Given the description of an element on the screen output the (x, y) to click on. 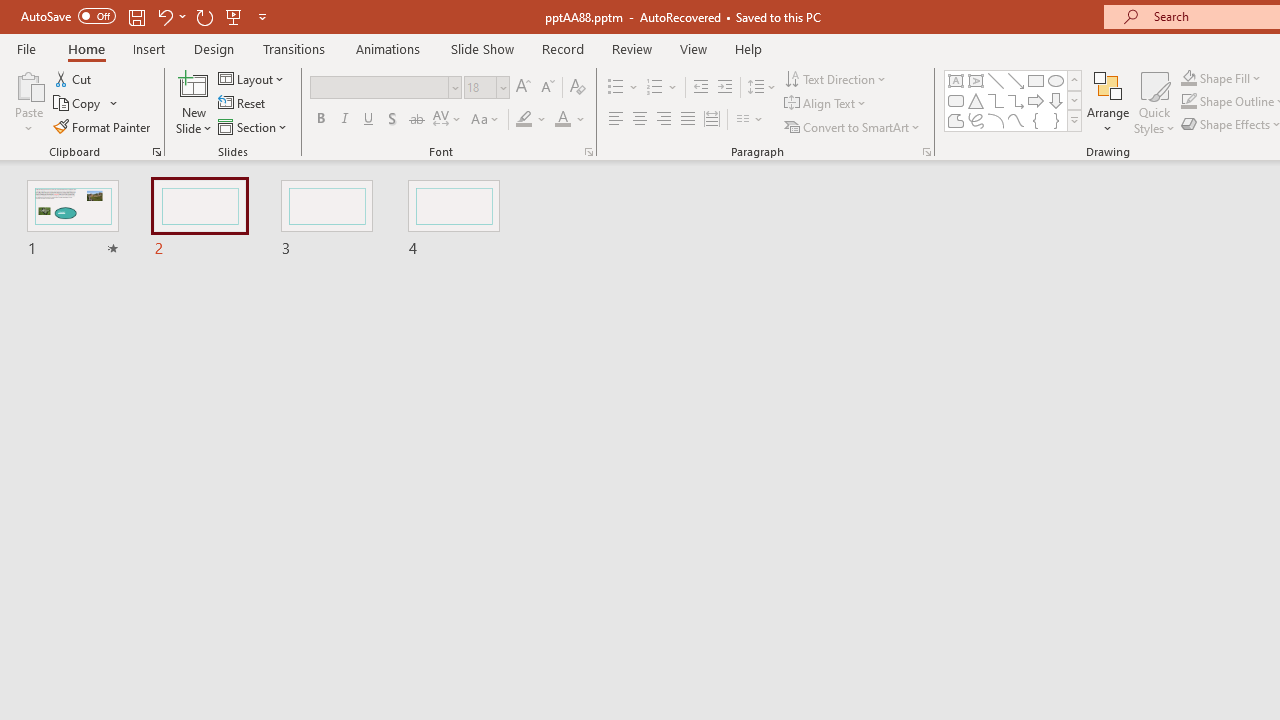
Freeform: Shape (955, 120)
Arrange (1108, 102)
Strikethrough (416, 119)
Connector: Elbow (995, 100)
Shape Fill Aqua, Accent 2 (1188, 78)
Distributed (712, 119)
Columns (750, 119)
Font... (588, 151)
